Given the description of an element on the screen output the (x, y) to click on. 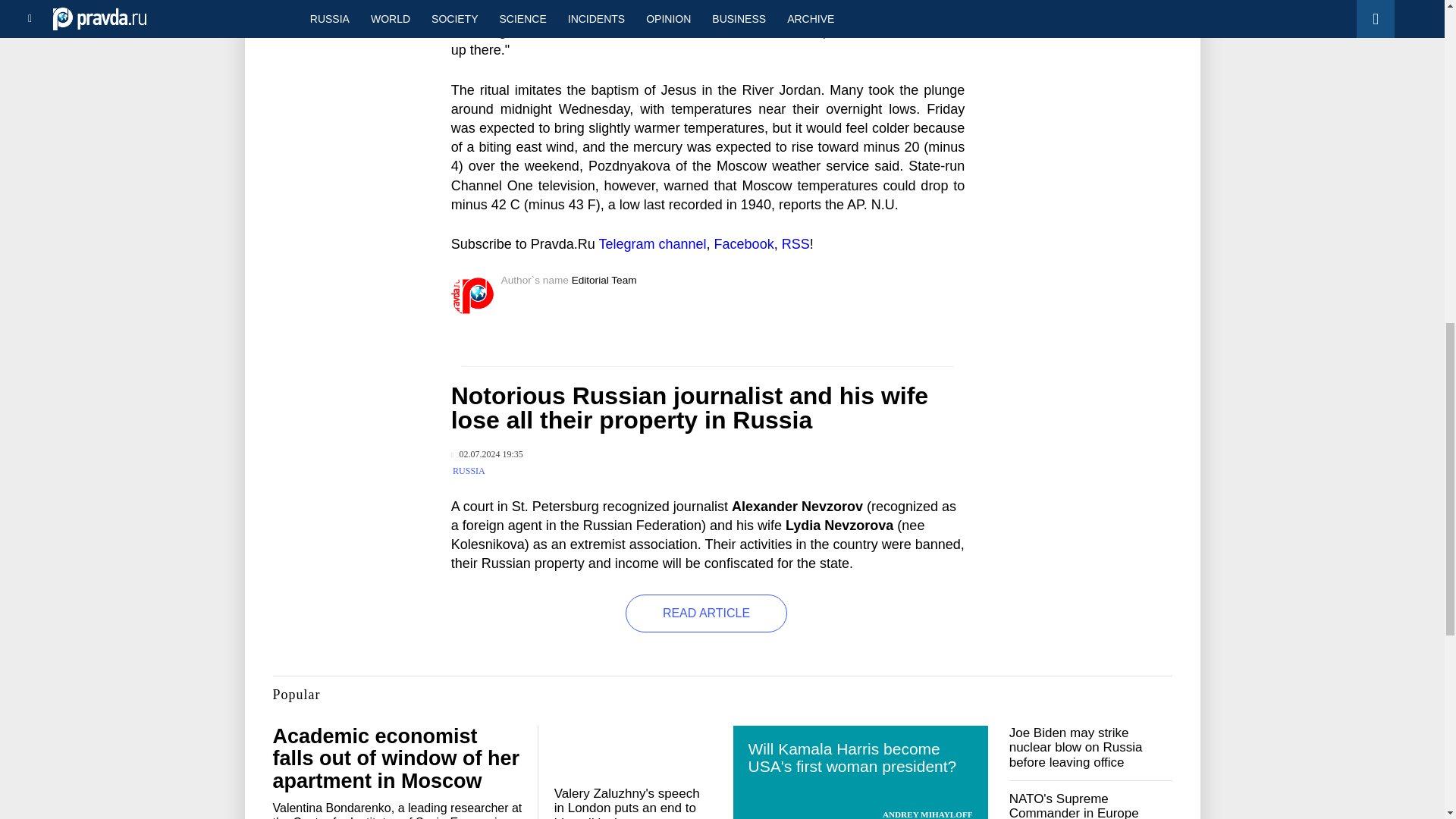
Telegram channel (652, 243)
Published (486, 454)
Facebook (744, 243)
Editorial Team (604, 279)
Back to top (1418, 79)
RUSSIA (468, 470)
Ukraine loses another Abrams tank in special operation zone (348, 4)
RSS (795, 243)
